Given the description of an element on the screen output the (x, y) to click on. 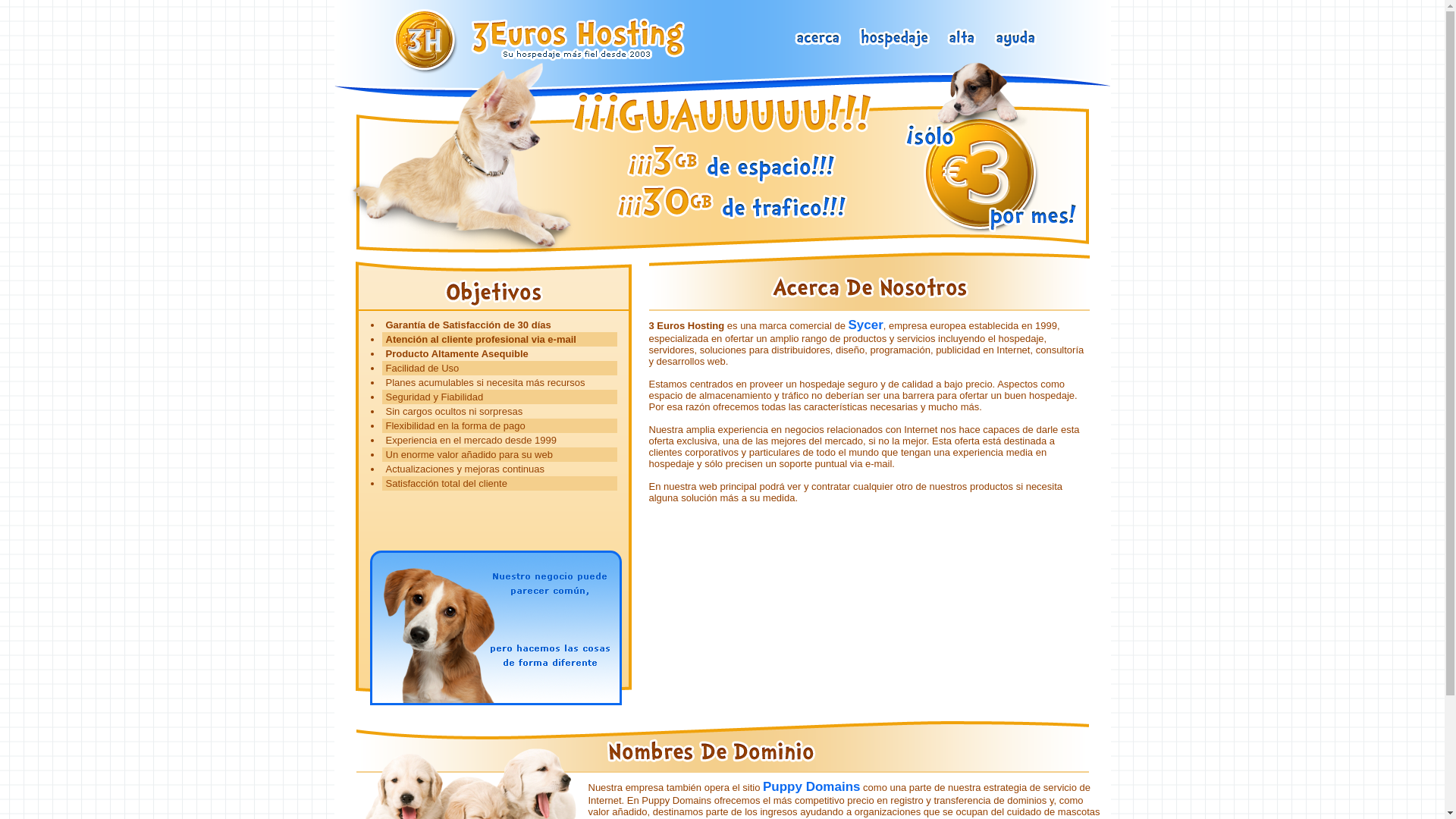
ayuda Element type: text (1015, 39)
Puppy Domains Element type: text (810, 786)
hospedaje Element type: text (894, 39)
3 Euros Hosting Logo Element type: hover (544, 40)
Sycer Element type: text (864, 324)
acerca Element type: text (818, 39)
alta Element type: text (962, 39)
